Given the description of an element on the screen output the (x, y) to click on. 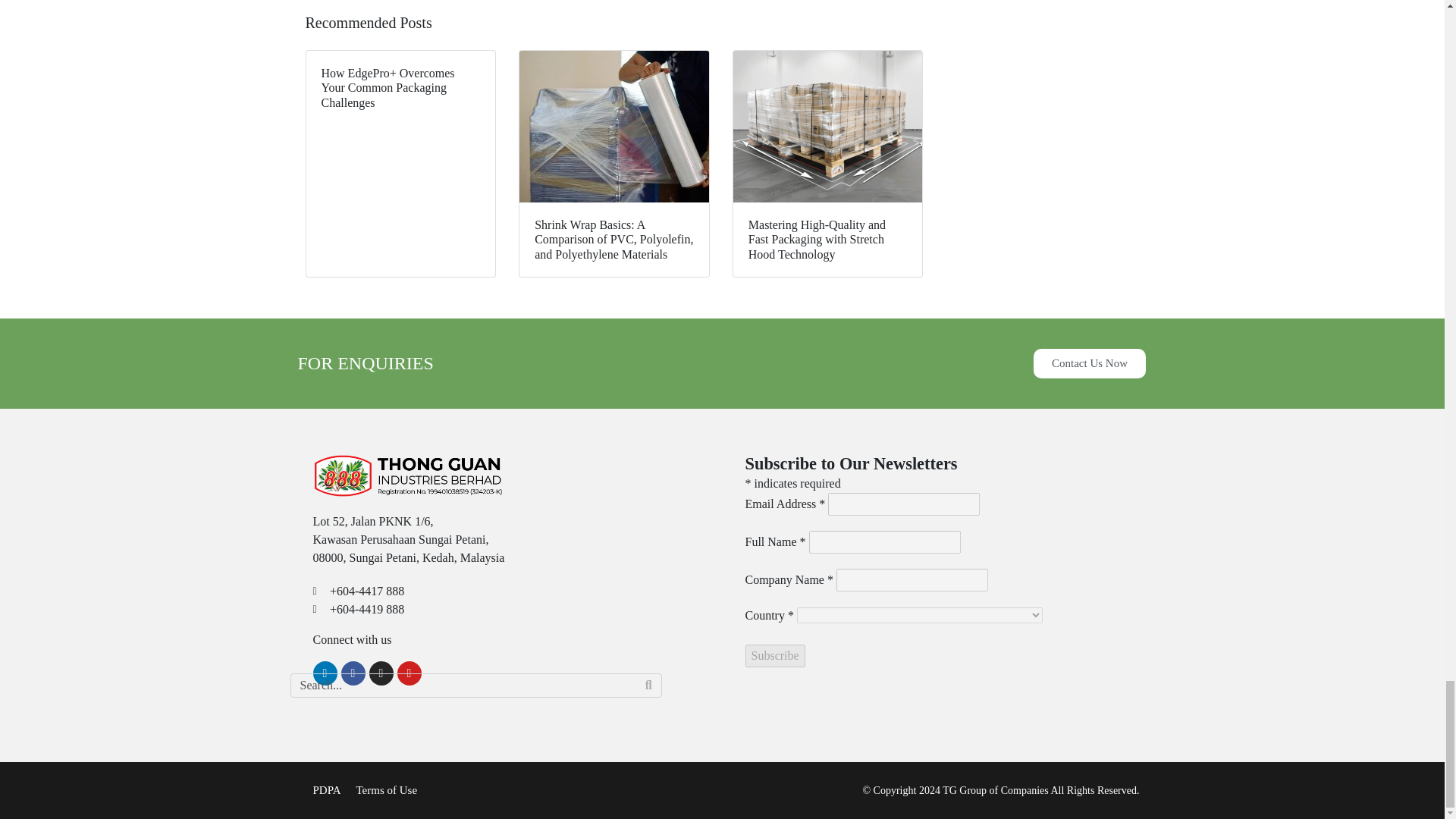
Subscribe (774, 655)
